Given the description of an element on the screen output the (x, y) to click on. 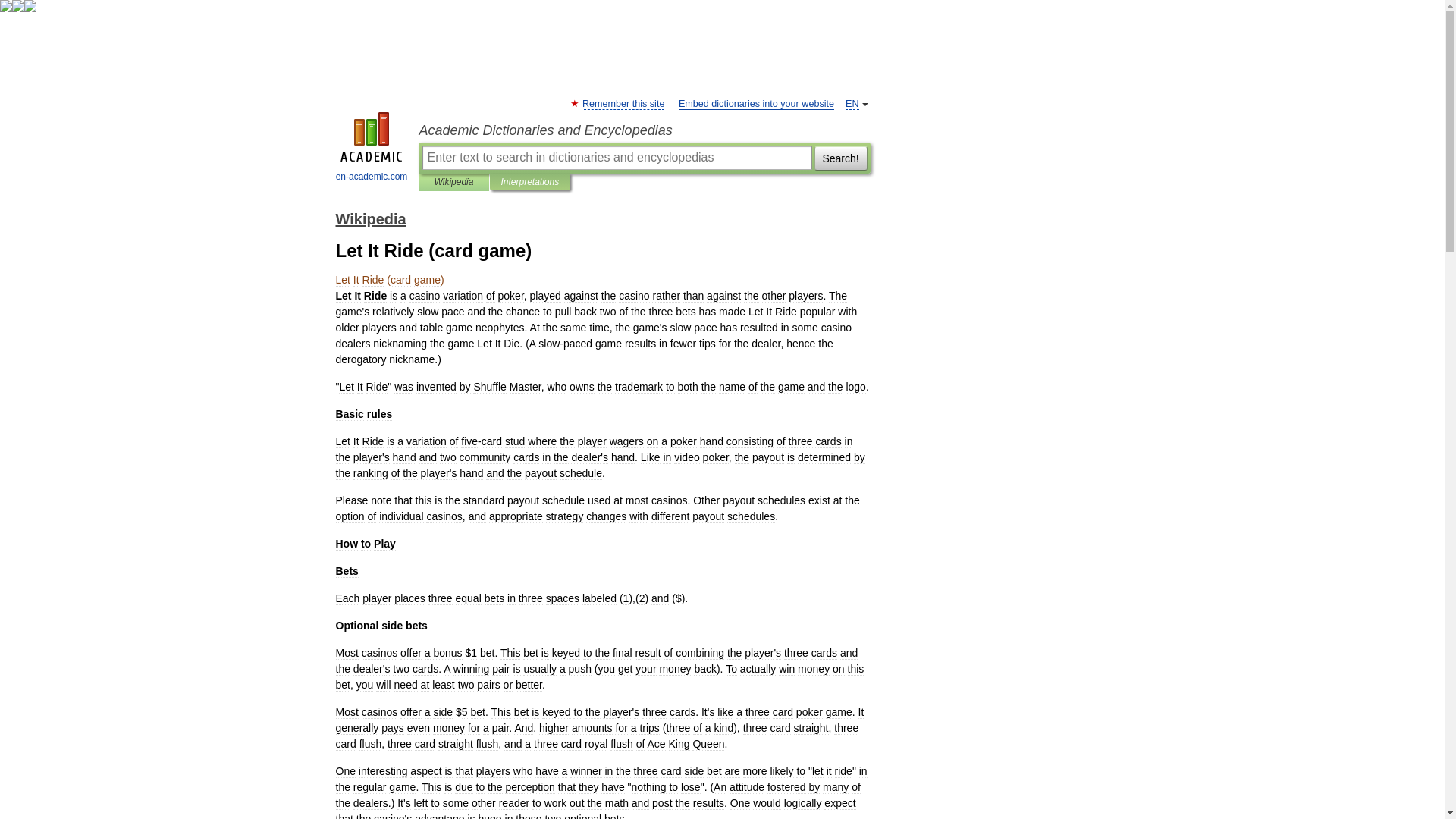
EN (852, 103)
Wikipedia (370, 218)
Interpretations (529, 181)
en-academic.com (371, 148)
Academic Dictionaries and Encyclopedias (644, 130)
Enter text to search in dictionaries and encyclopedias (616, 157)
Remember this site (623, 103)
Search! (840, 157)
Wikipedia (453, 181)
Embed dictionaries into your website (756, 103)
